Given the description of an element on the screen output the (x, y) to click on. 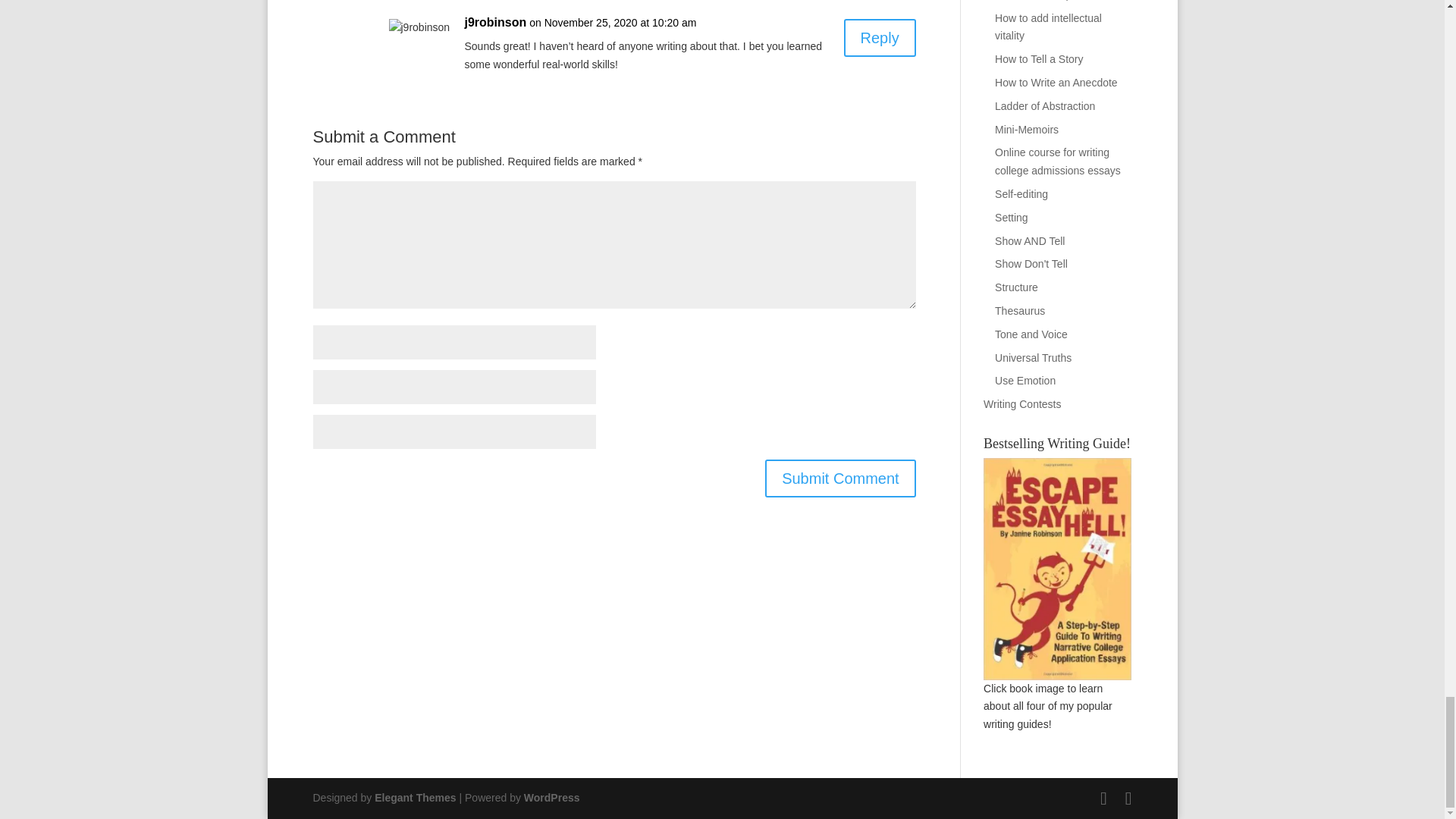
Premium WordPress Themes (414, 797)
Submit Comment (840, 478)
